Given the description of an element on the screen output the (x, y) to click on. 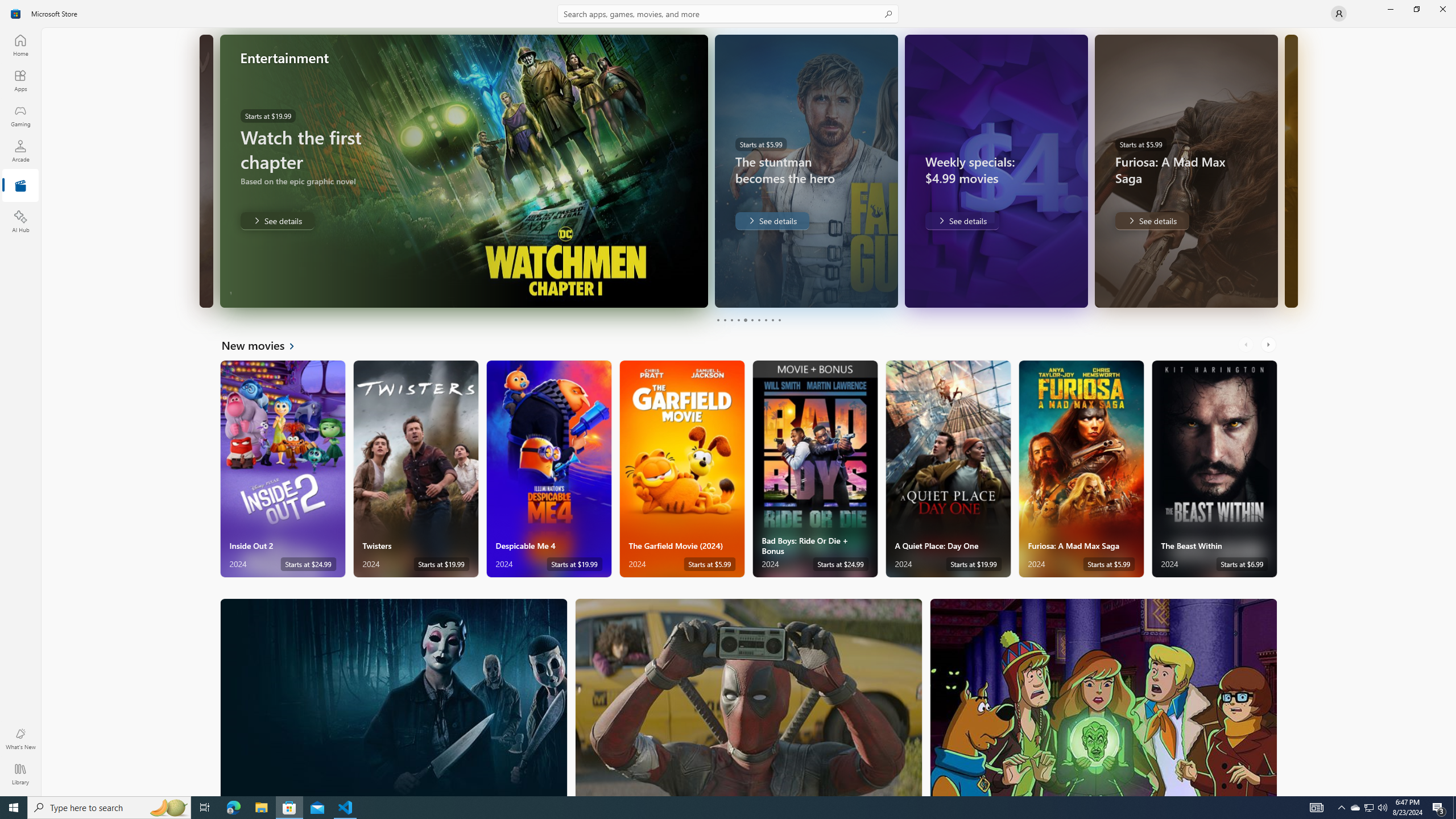
Page 10 (779, 319)
Class: Image (15, 13)
Pager (748, 319)
Gaming (20, 115)
Page 1 (717, 319)
Family (1102, 697)
AutomationID: RightScrollButton (1269, 344)
Page 6 (751, 319)
Library (20, 773)
Restore Microsoft Store (1416, 9)
